Given the description of an element on the screen output the (x, y) to click on. 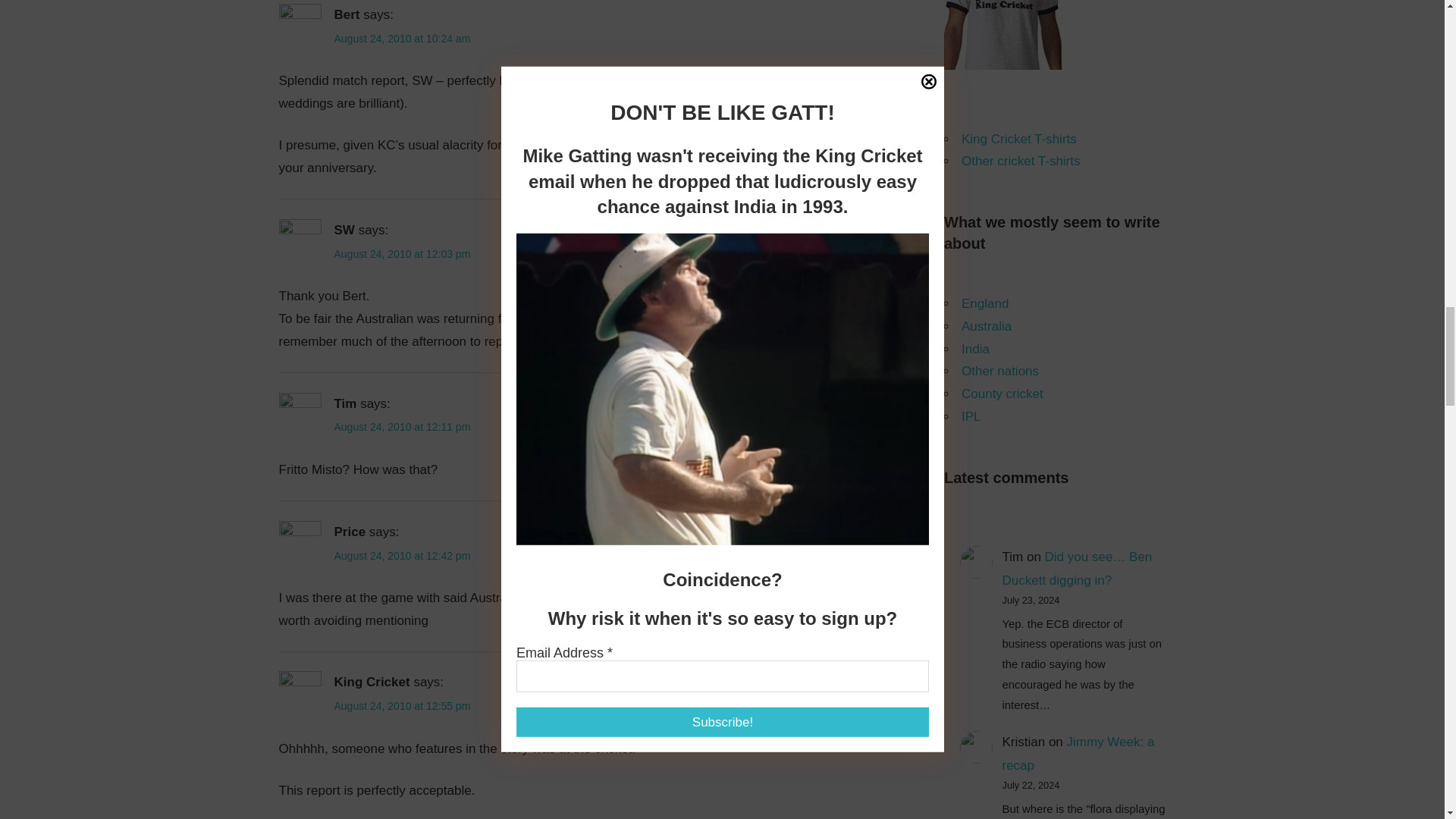
August 24, 2010 at 12:11 pm (401, 426)
August 24, 2010 at 12:42 pm (401, 555)
August 24, 2010 at 12:55 pm (401, 705)
August 24, 2010 at 10:24 am (401, 38)
August 24, 2010 at 12:03 pm (401, 254)
